Given the description of an element on the screen output the (x, y) to click on. 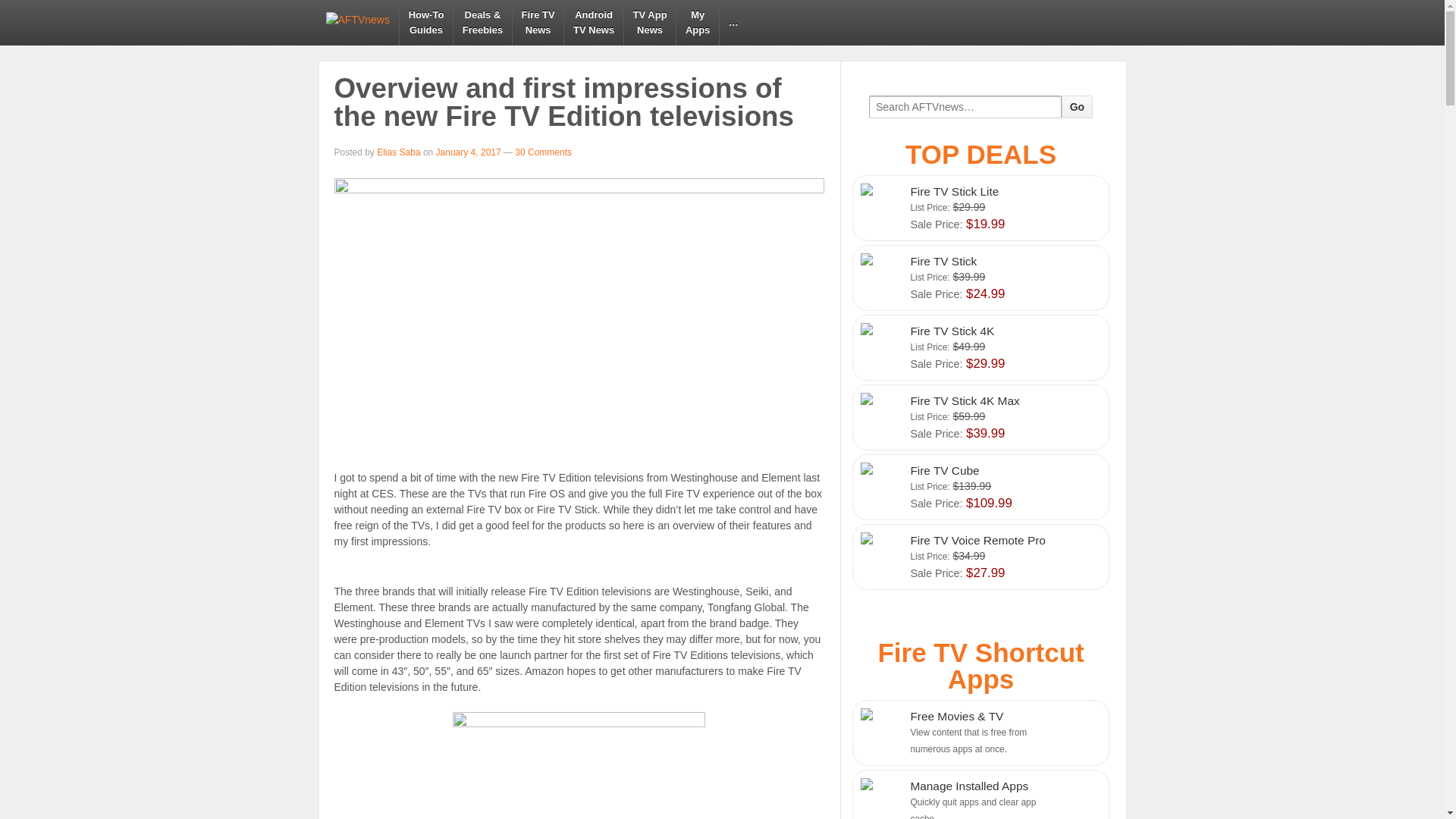
Fire TV Stick Lite (979, 207)
30 Comments (542, 152)
About Elias Saba (697, 22)
Go (593, 22)
Fire TV Stick (537, 22)
Fire TV Stick 4K (398, 152)
